Given the description of an element on the screen output the (x, y) to click on. 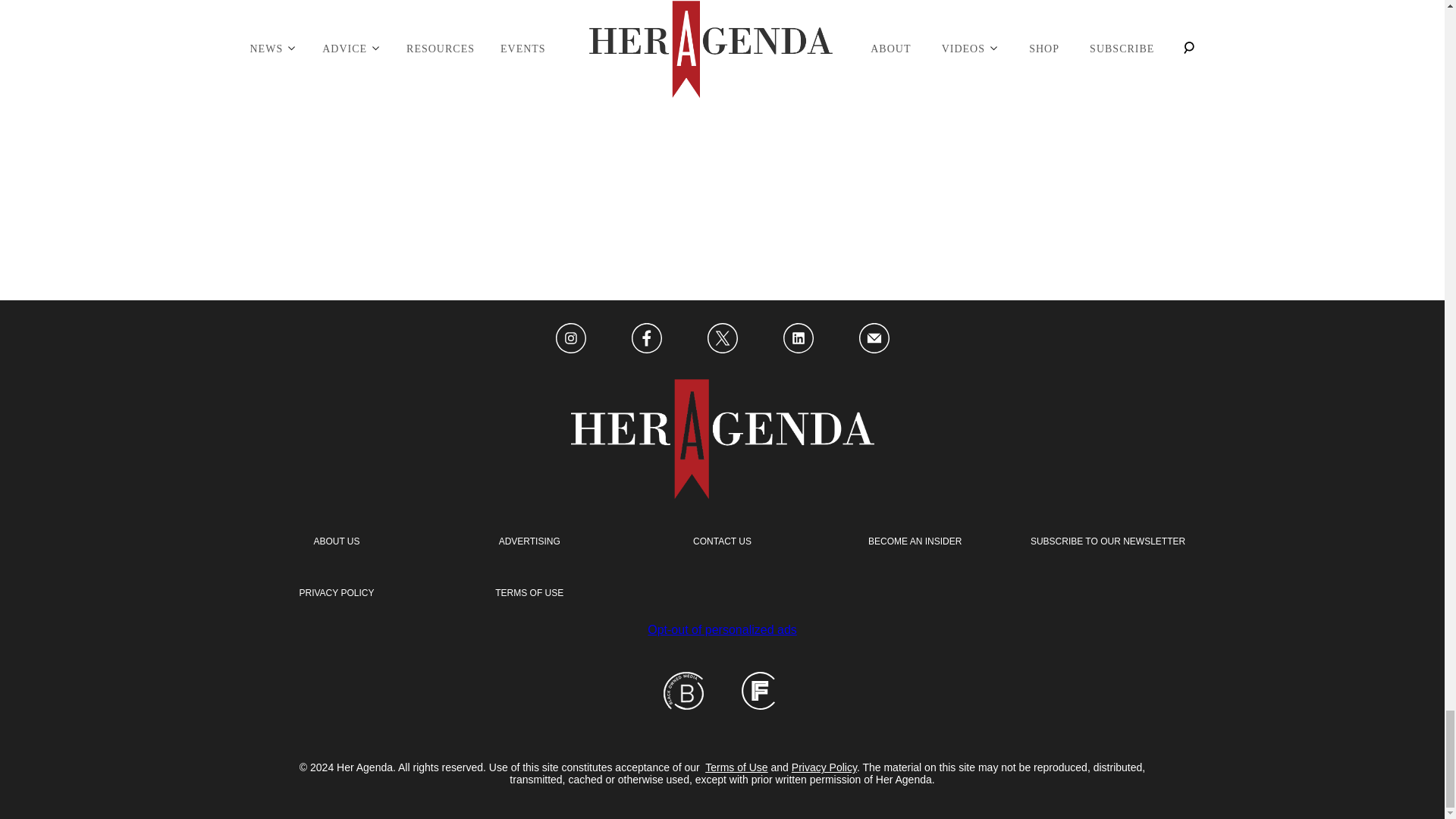
Contact Us (722, 541)
Advertising (529, 541)
Link to Facebook (645, 339)
Become an Insider (913, 541)
Link to Instagram (569, 339)
Newsletter signup (1107, 541)
About Us (336, 541)
Link to LinkedIn (797, 339)
Link to X (721, 339)
Link to Email (873, 339)
